Given the description of an element on the screen output the (x, y) to click on. 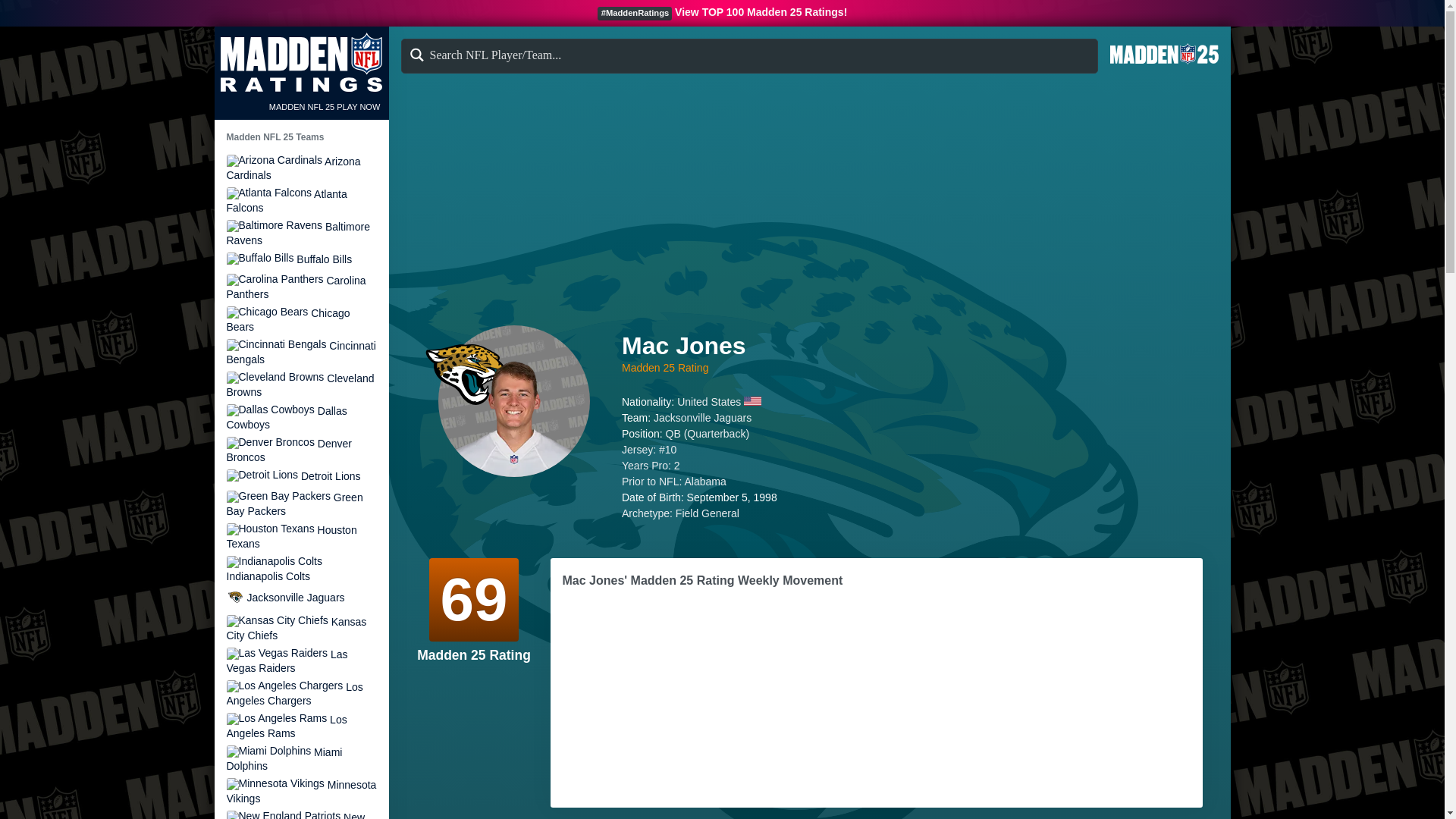
Kansas City Chiefs (276, 621)
Houston Texans (300, 536)
Atlanta Falcons (268, 193)
Denver Broncos (269, 442)
Madden Ratings (300, 61)
Los Angeles Chargers (283, 686)
Las Vegas Raiders (300, 660)
Indianapolis Colts (273, 562)
Indianapolis Colts (300, 569)
New England Patriots (300, 814)
Cleveland Browns (274, 377)
Green Bay Packers (277, 496)
Buffalo Bills (300, 259)
Arizona Cardinals (300, 167)
Minnesota Vikings (300, 791)
